Given the description of an element on the screen output the (x, y) to click on. 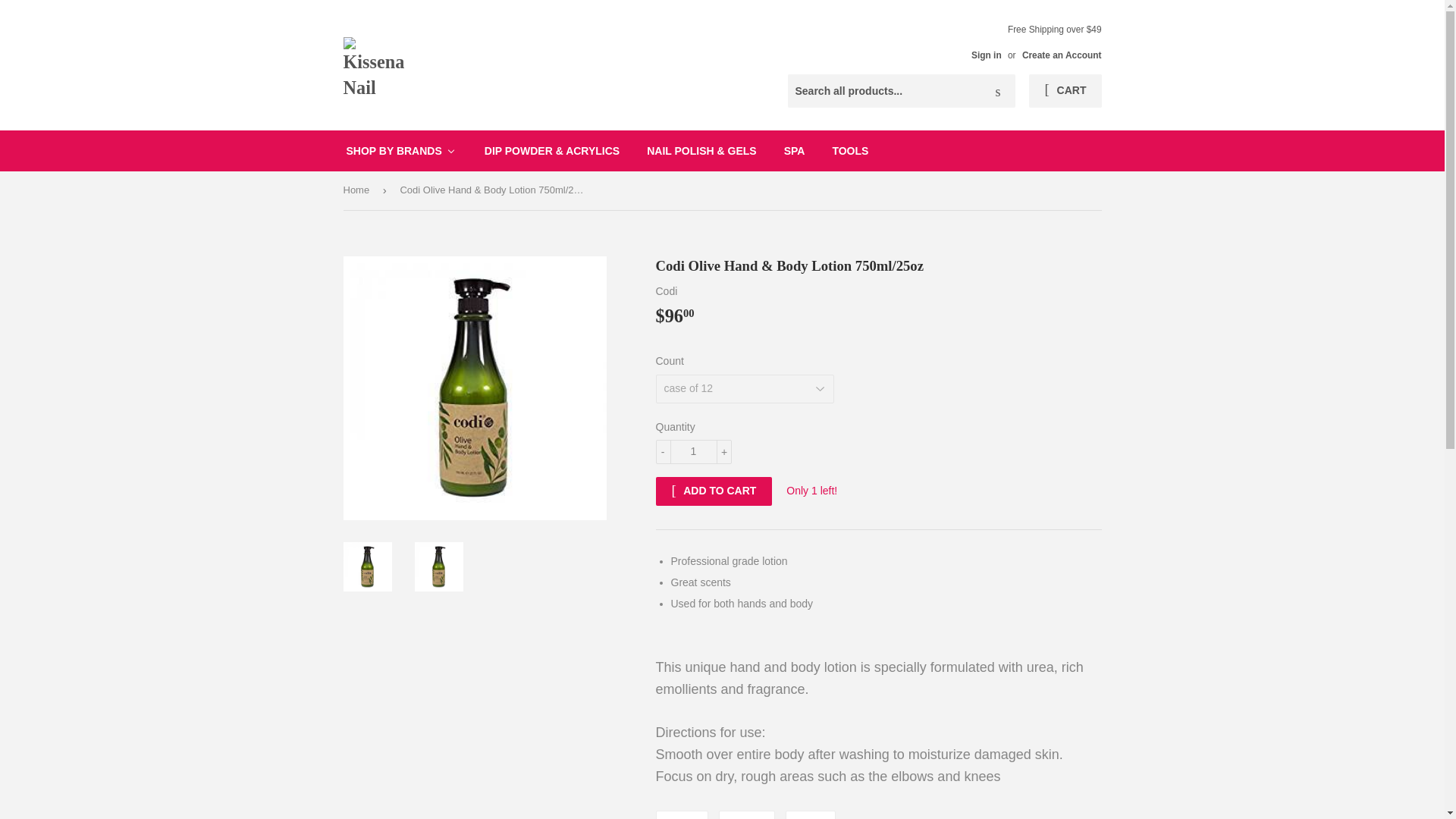
Sign in (986, 54)
Tweet on Twitter (746, 814)
1 (692, 451)
CART (1064, 90)
Search (997, 91)
Pin on Pinterest (810, 814)
SHOP BY BRANDS (400, 150)
Share on Facebook (681, 814)
Create an Account (1062, 54)
